Given the description of an element on the screen output the (x, y) to click on. 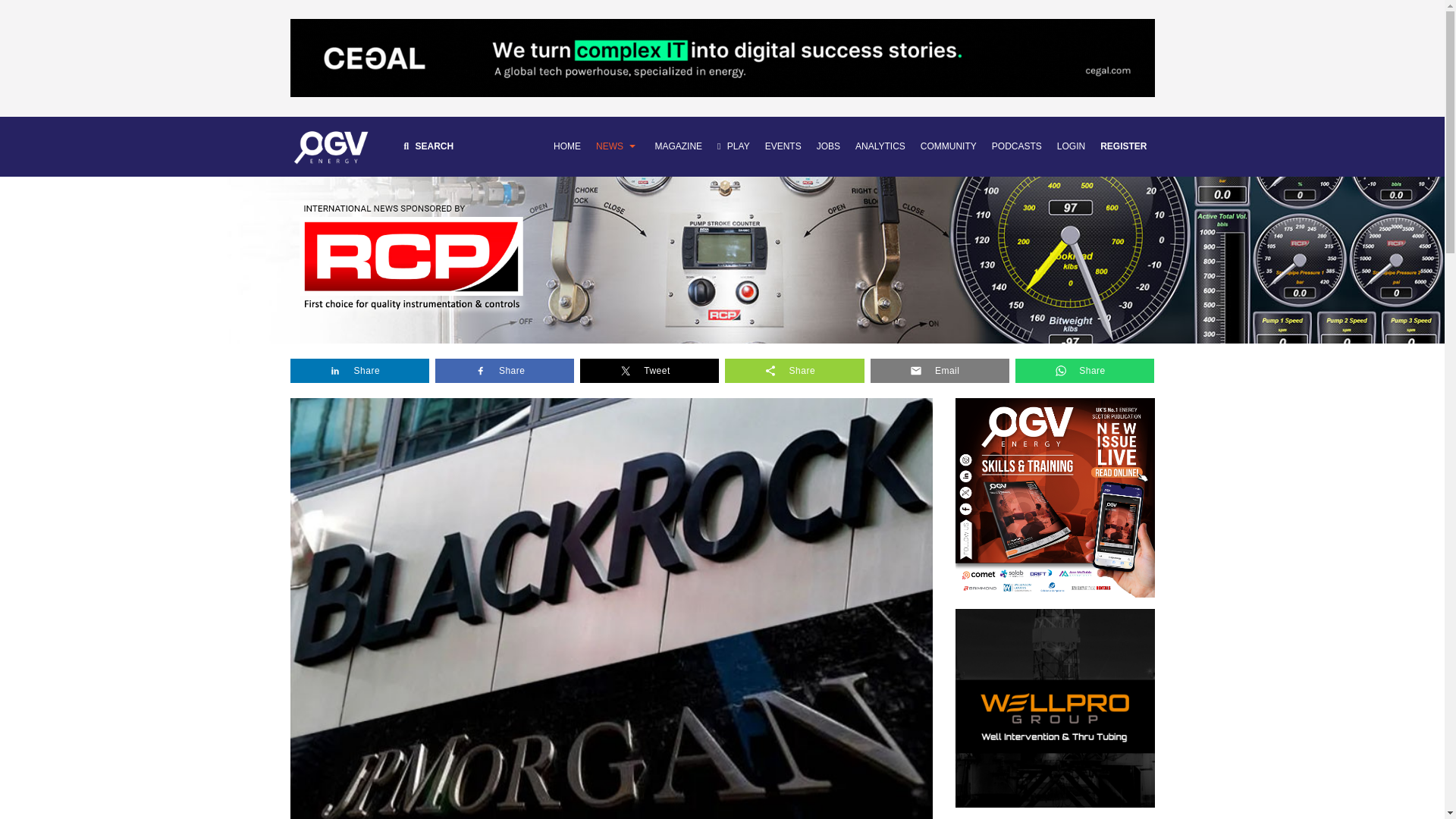
PODCASTS (1016, 146)
HOME (567, 146)
MAGAZINE (678, 146)
PLAY (733, 146)
SEARCH (428, 146)
ANALYTICS (879, 146)
LOGIN (1071, 146)
COMMUNITY (948, 146)
EVENTS (783, 146)
REGISTER (1123, 146)
JOBS (828, 146)
NEWS (617, 146)
